Given the description of an element on the screen output the (x, y) to click on. 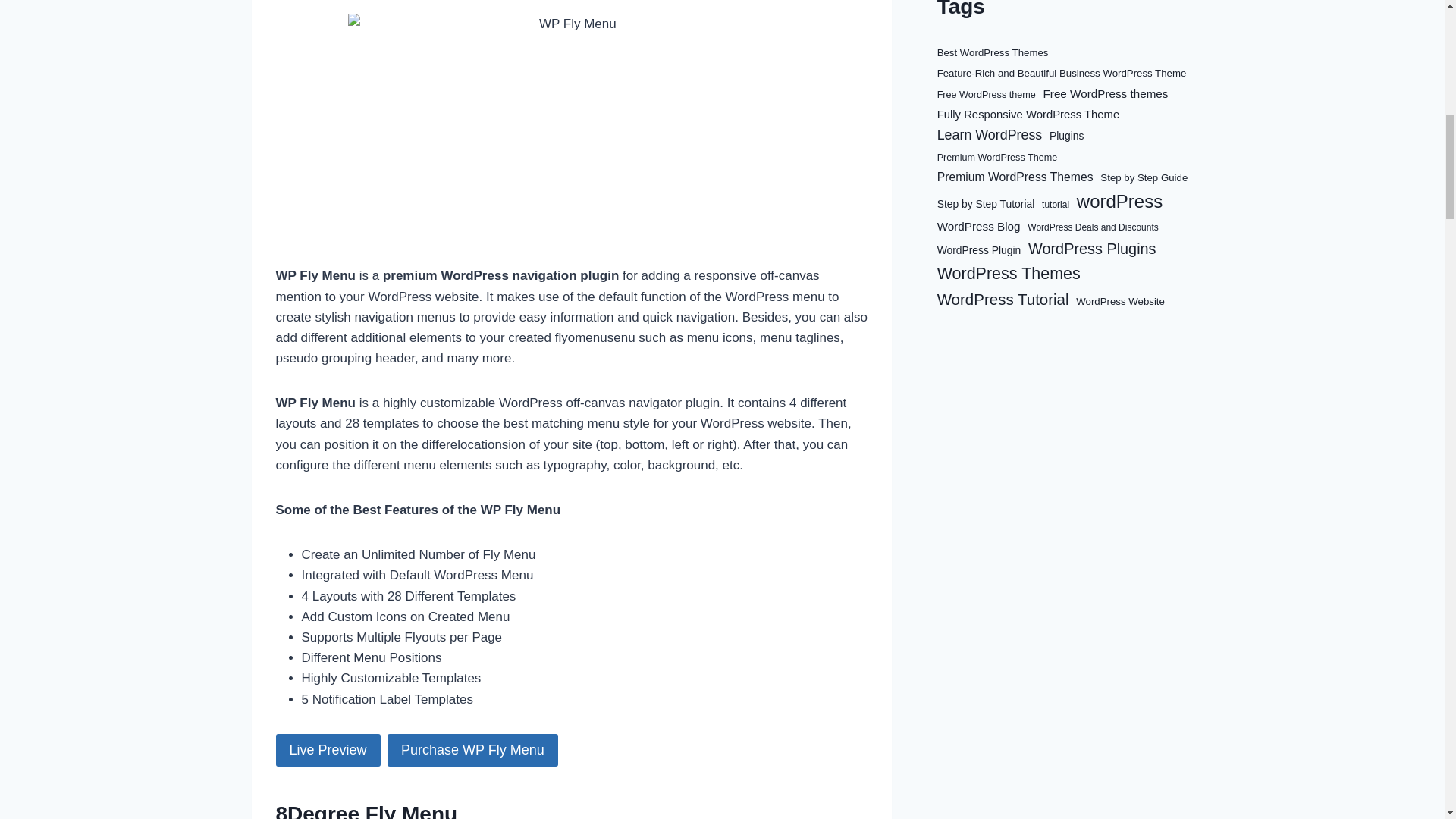
Live Preview (328, 749)
8Degree Fly Menu (367, 810)
Purchase WP Fly Menu (472, 749)
